Given the description of an element on the screen output the (x, y) to click on. 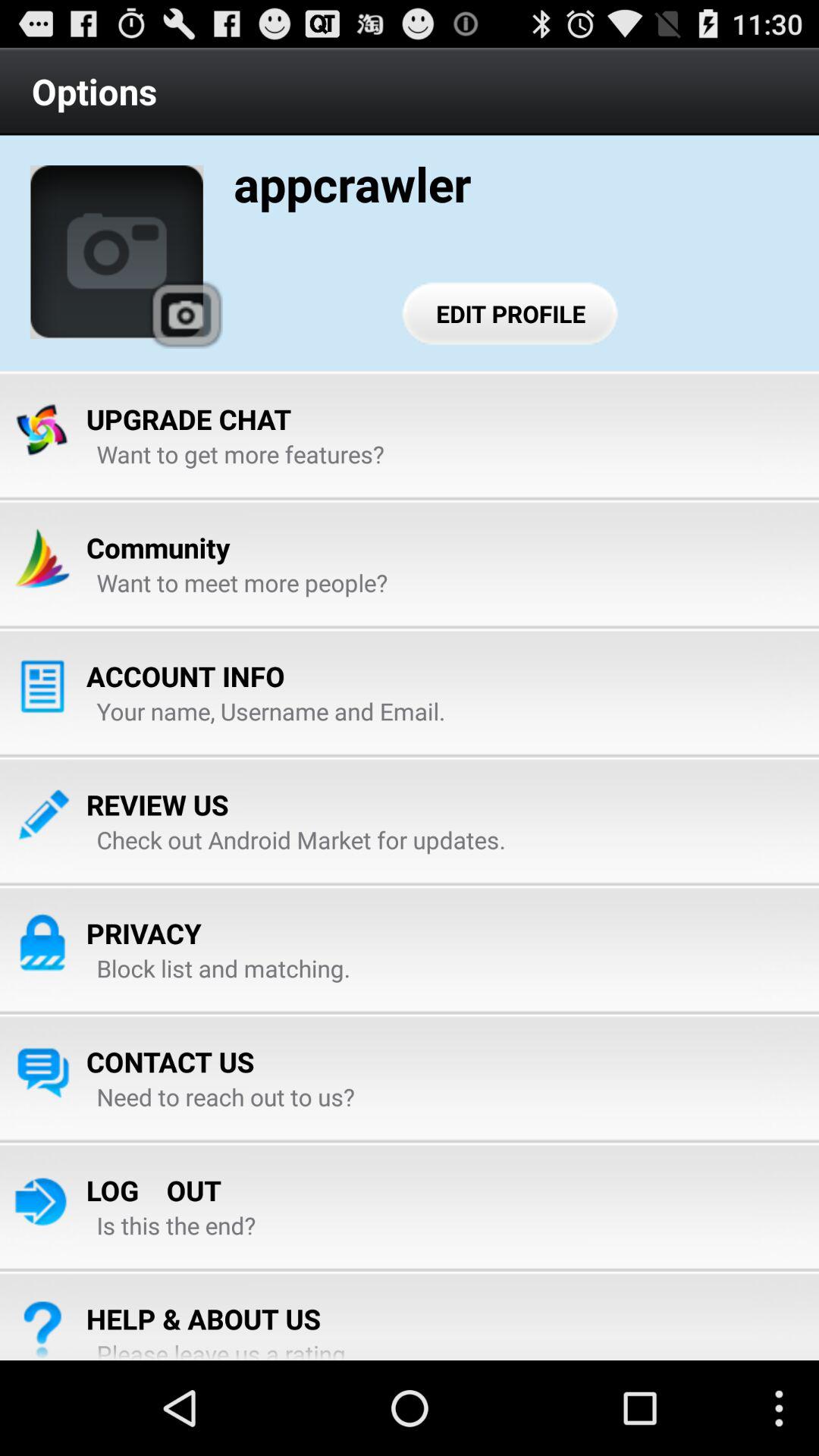
click item below the your name username app (157, 804)
